Given the description of an element on the screen output the (x, y) to click on. 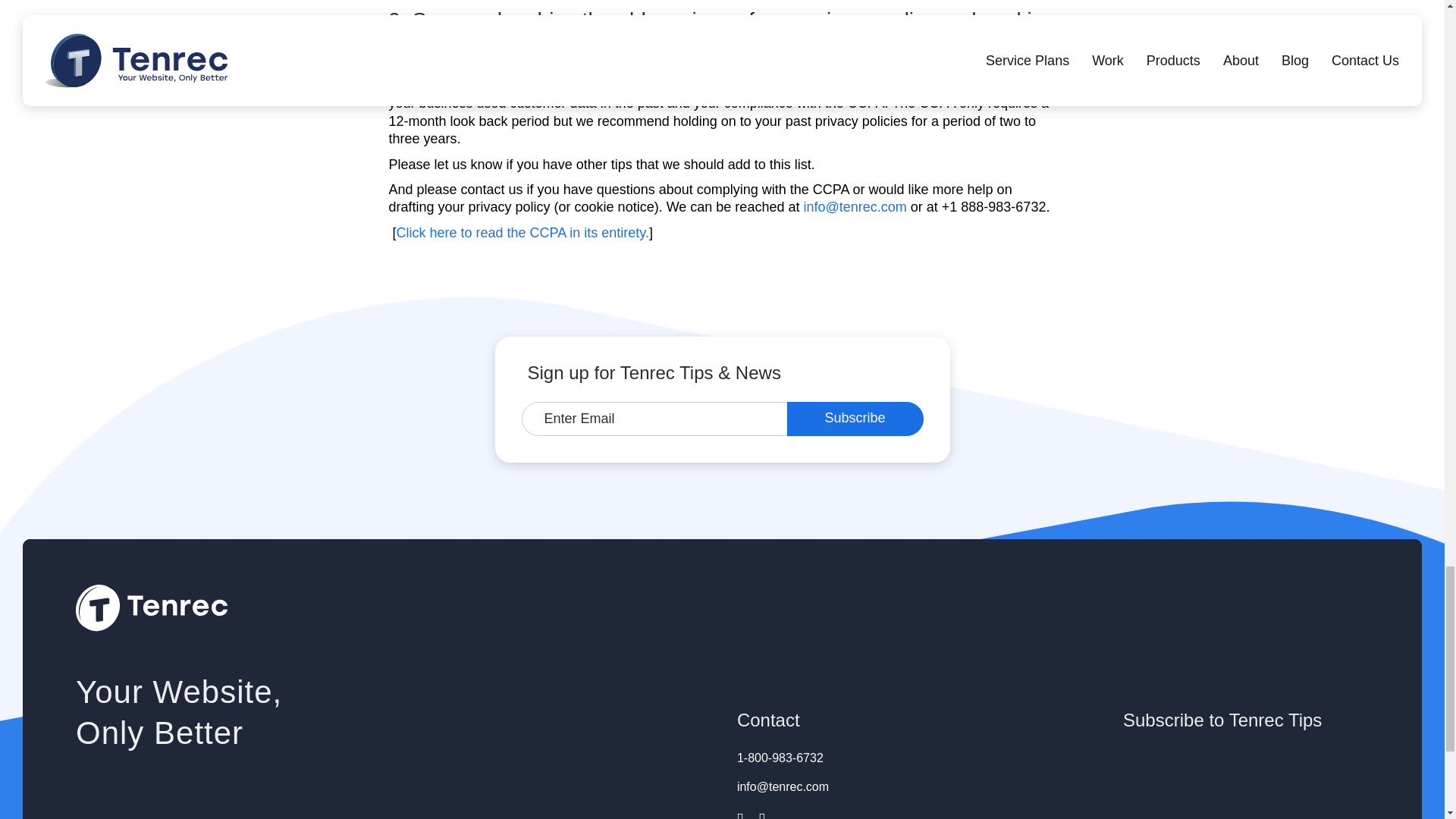
Hubspot Solutions Partner Program Badge (113, 817)
Icon Twitter (740, 813)
1-800-983-6732 (780, 757)
Form 0 (1245, 785)
Subscribe (855, 418)
Icon Linkedin (761, 813)
Click here to read the CCPA in its entirety. (522, 232)
